Given the description of an element on the screen output the (x, y) to click on. 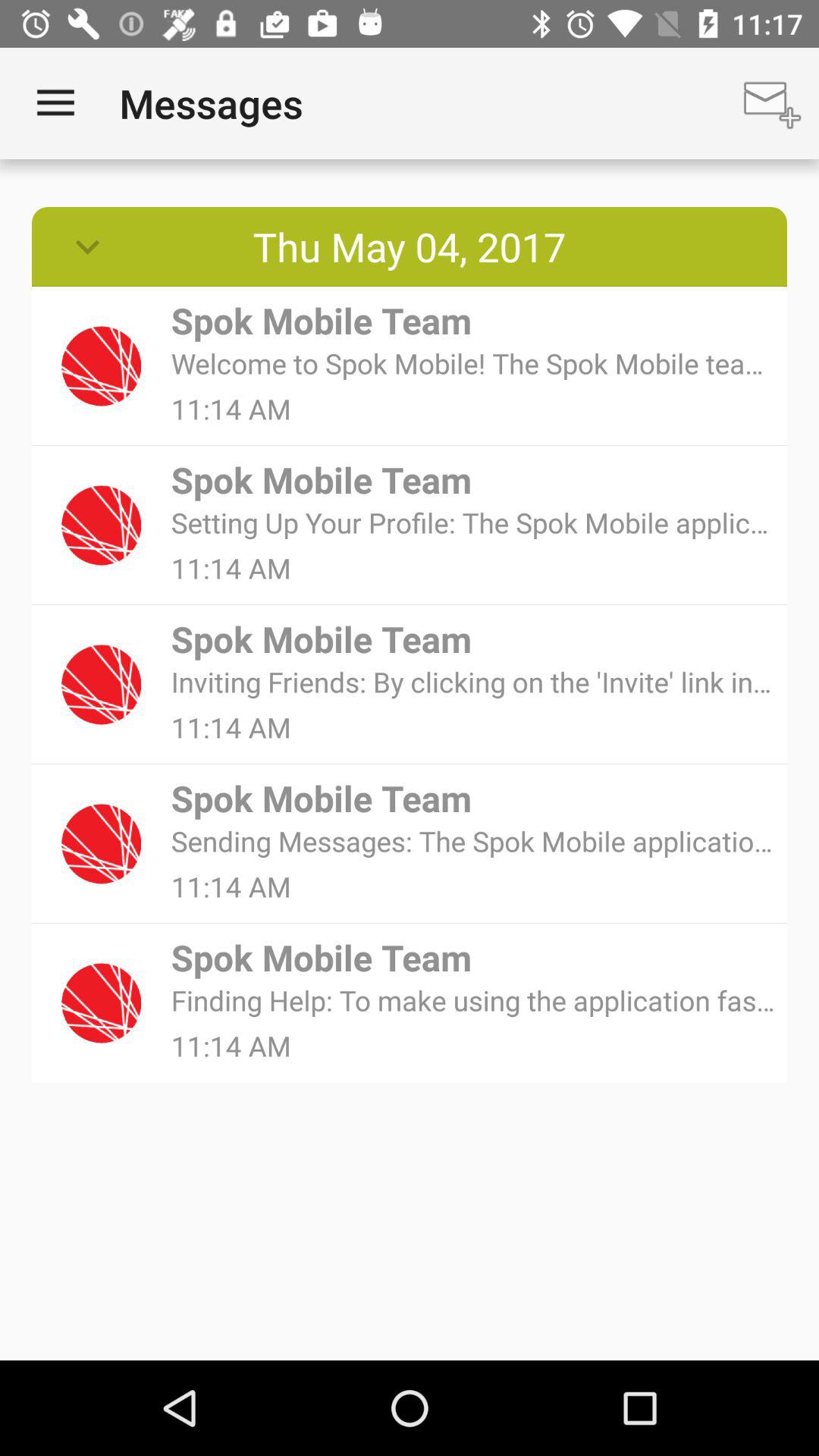
launch item below spok mobile team item (473, 840)
